Given the description of an element on the screen output the (x, y) to click on. 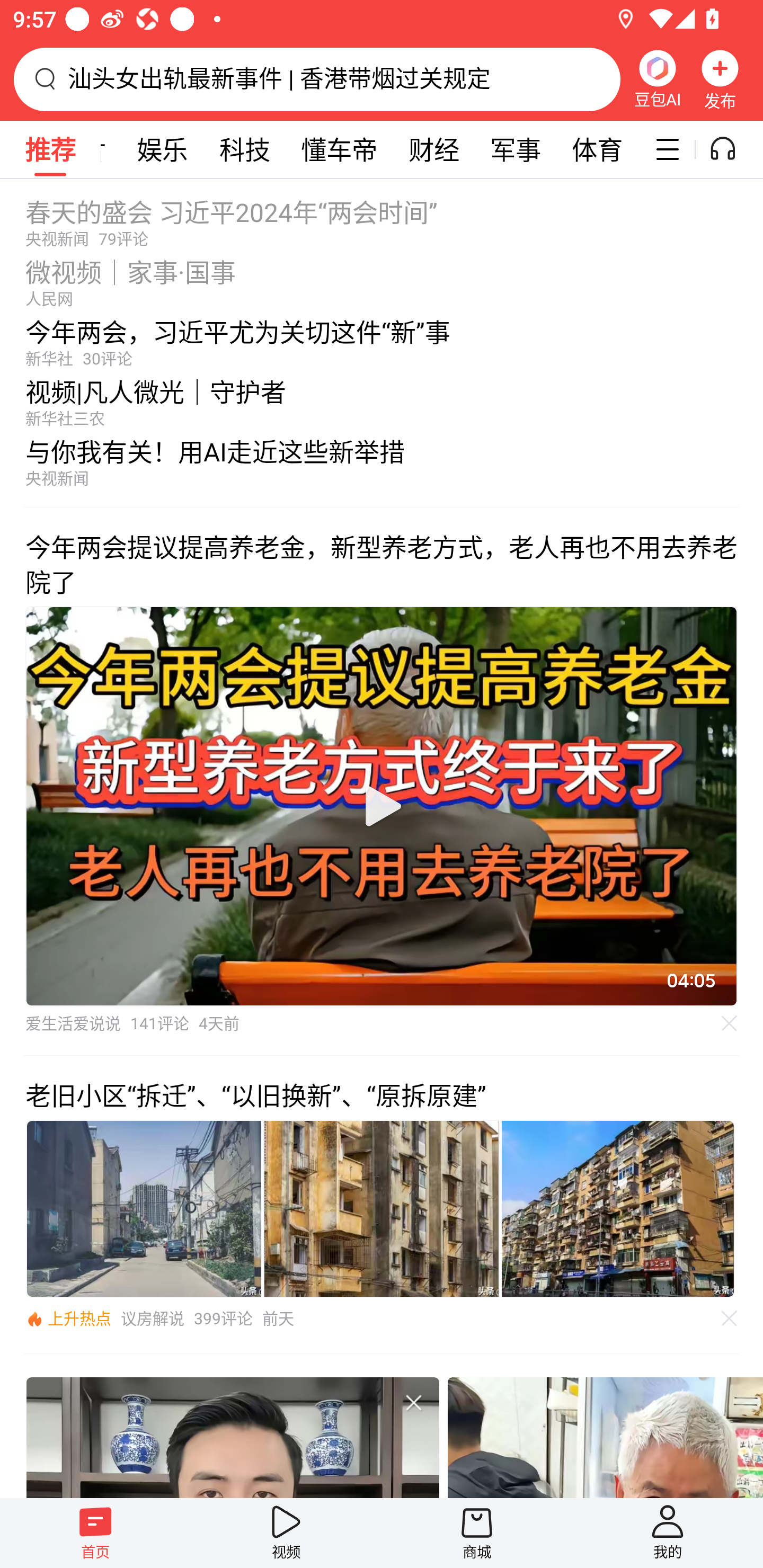
汕头女出轨最新事件 | 香港带烟过关规定 搜索框，汕头女出轨最新事件 | 香港带烟过关规定 (316, 79)
豆包AI AI回答，按钮 (657, 78)
发布 发布，按钮 (720, 78)
推荐 (49, 149)
娱乐 (162, 149)
科技 (244, 149)
懂车帝 (339, 149)
财经 (433, 149)
军事 (515, 149)
体育 (596, 149)
听一听开关 (732, 149)
微视频｜家事·国事人民网 视频 微视频｜家事·国事 人民网 (381, 277)
视频|凡人微光｜守护者新华社三农 文章 视频|凡人微光｜守护者 新华社三农 (381, 398)
与你我有关！用AI走近这些新举措央视新闻 文章 与你我有关！用AI走近这些新举措 央视新闻 (381, 467)
播放视频 视频播放器，双击屏幕打开播放控制 (381, 805)
播放视频 (381, 806)
不感兴趣 (729, 1023)
内容图片 (143, 1208)
内容图片 (381, 1208)
内容图片 (617, 1208)
不感兴趣 (729, 1318)
不感兴趣 (413, 1402)
首页 (95, 1532)
视频 (285, 1532)
商城 (476, 1532)
我的 (667, 1532)
